Given the description of an element on the screen output the (x, y) to click on. 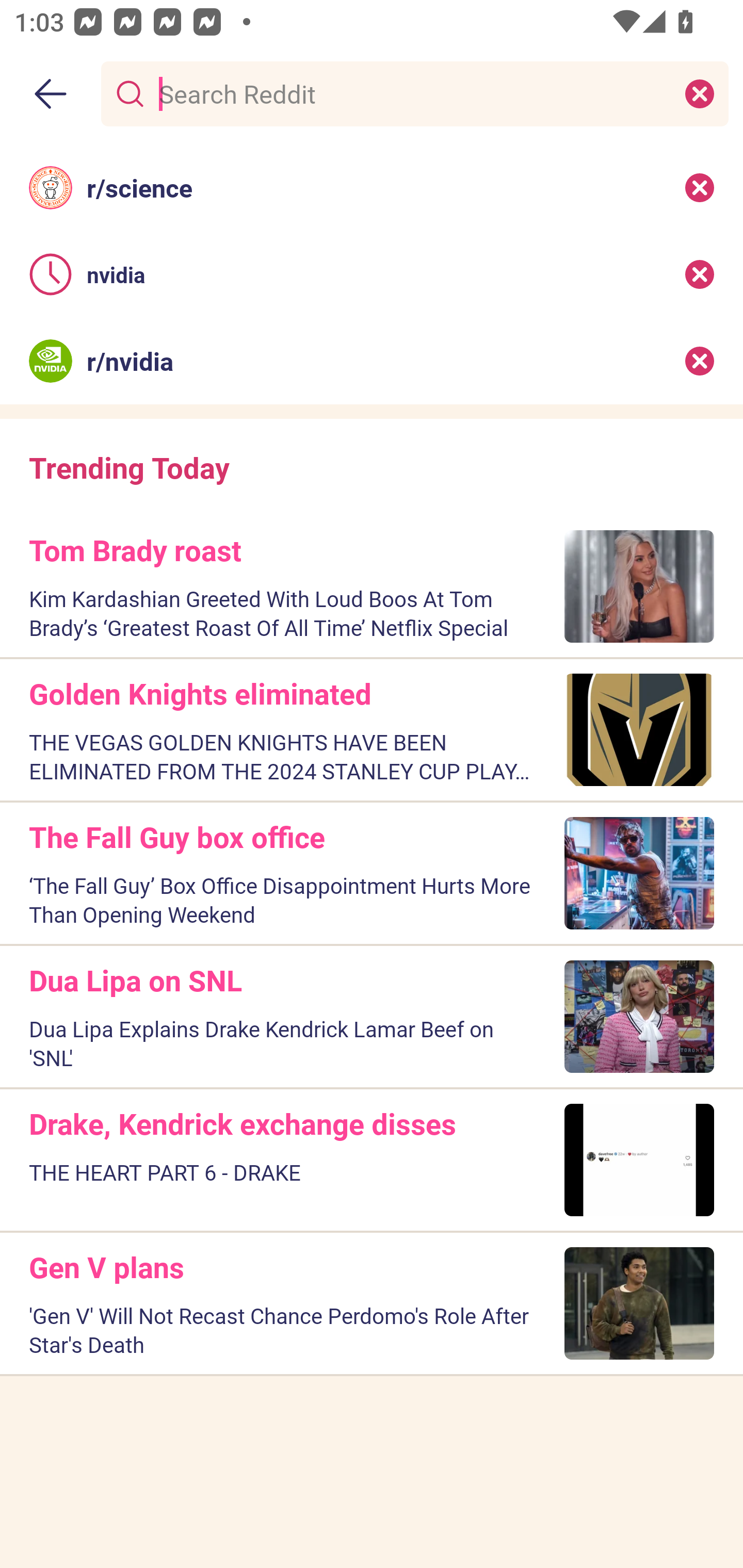
Back (50, 93)
Search Reddit (410, 93)
Clear search (699, 93)
r/science Recent search: r/science Remove (371, 187)
Remove (699, 187)
nvidia Recent search: nvidia Remove (371, 274)
Remove (699, 274)
r/nvidia Recent search: r/nvidia Remove (371, 361)
Remove (699, 361)
